Given the description of an element on the screen output the (x, y) to click on. 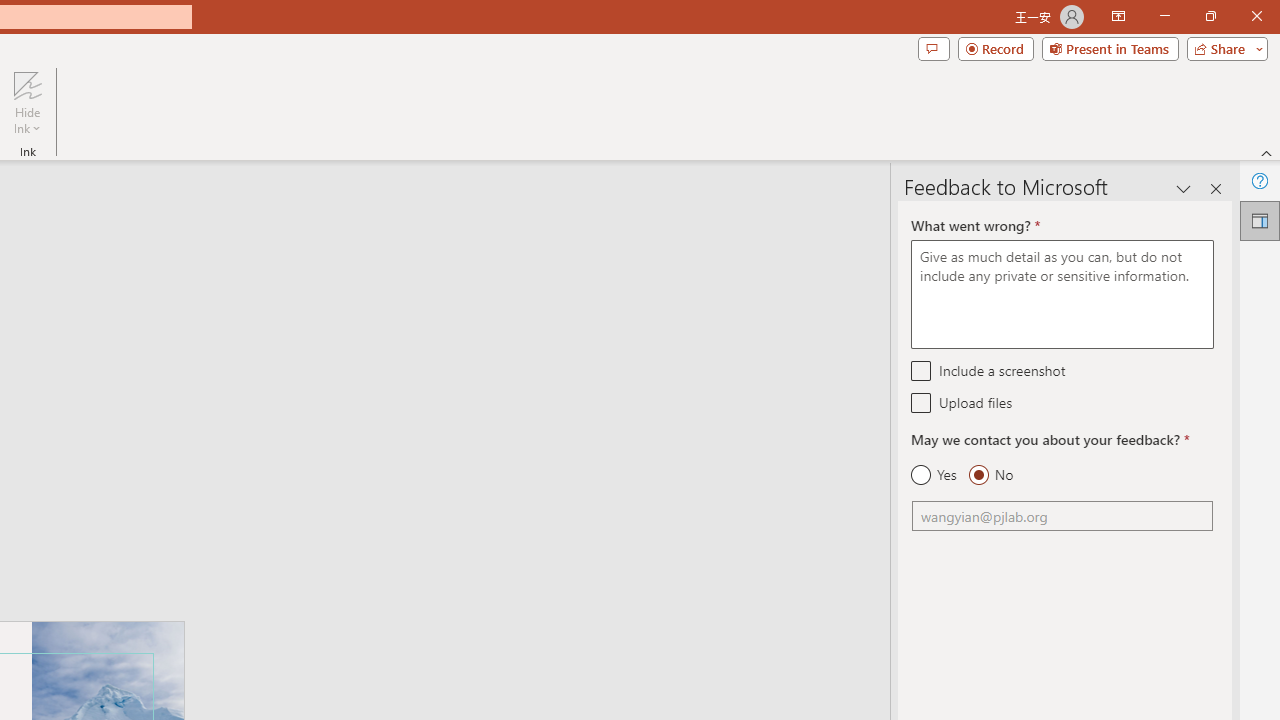
Feedback to Microsoft (1260, 220)
Hide Ink (27, 84)
Hide Ink (27, 102)
What went wrong? * (1062, 294)
Include a screenshot (921, 370)
